Given the description of an element on the screen output the (x, y) to click on. 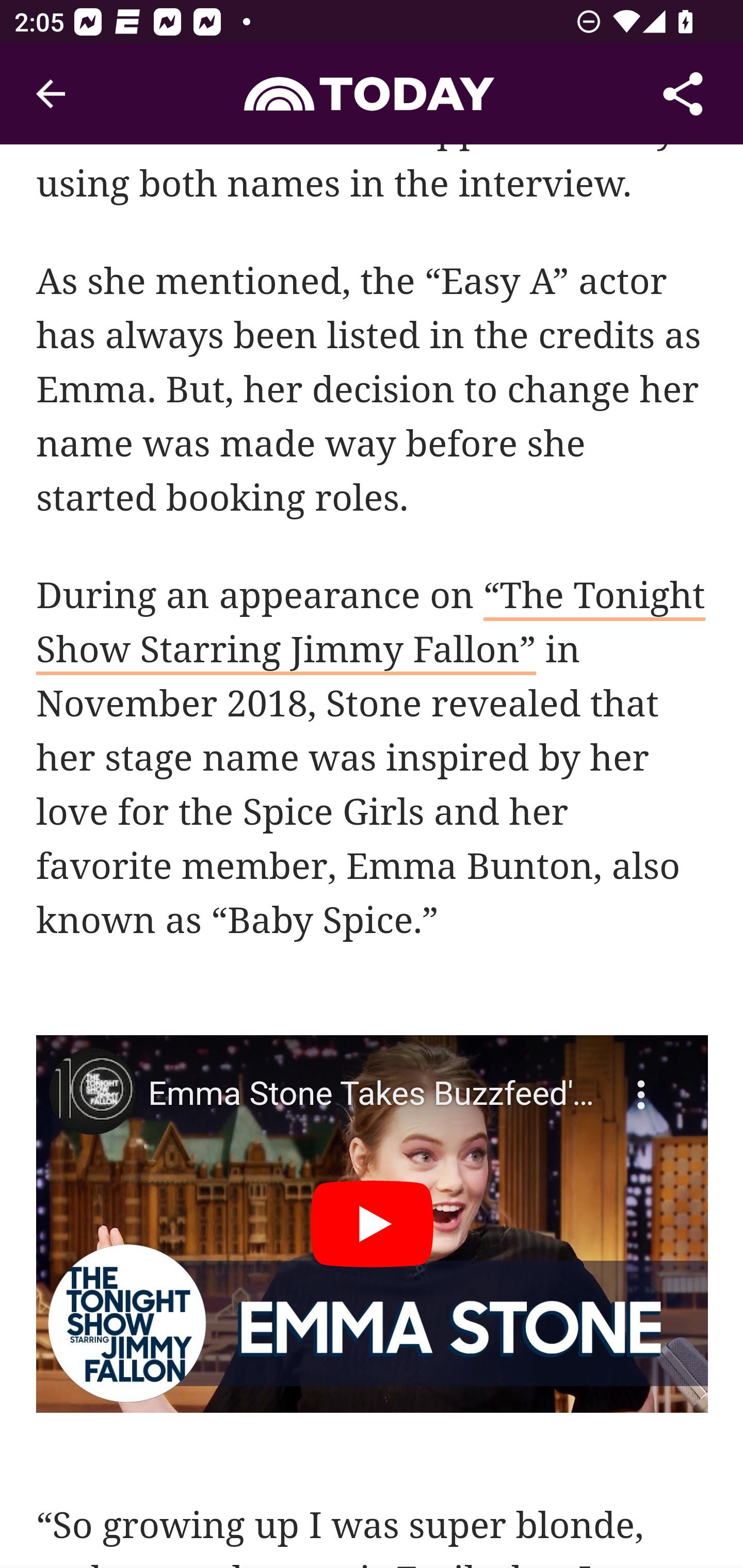
Navigate up (50, 93)
Share Article, button (683, 94)
Header, Today (371, 93)
“The Tonight Show Starring Jimmy Fallon” (370, 626)
More (643, 1083)
Play (372, 1224)
